Given the description of an element on the screen output the (x, y) to click on. 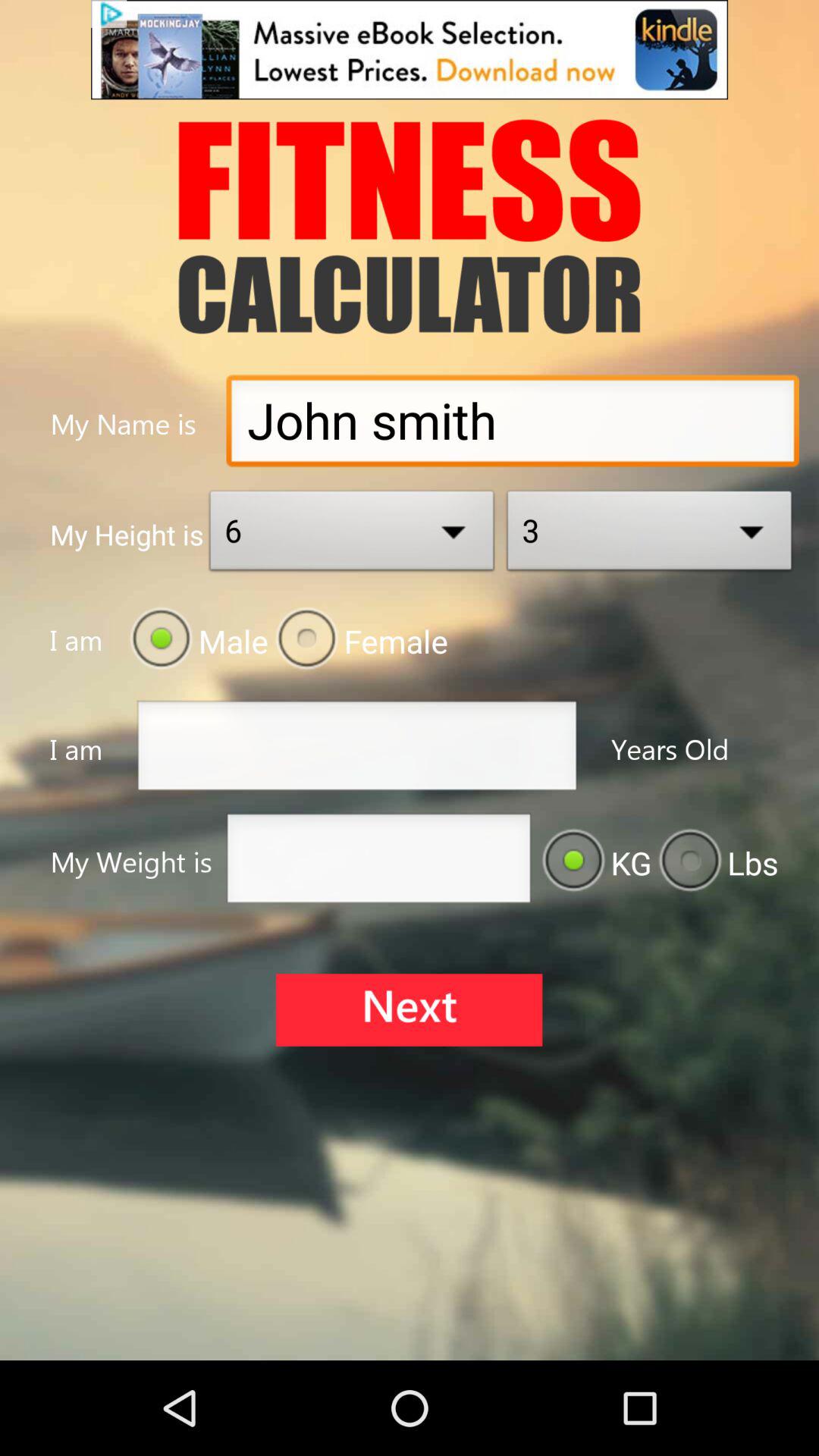
go next (408, 1009)
